Given the description of an element on the screen output the (x, y) to click on. 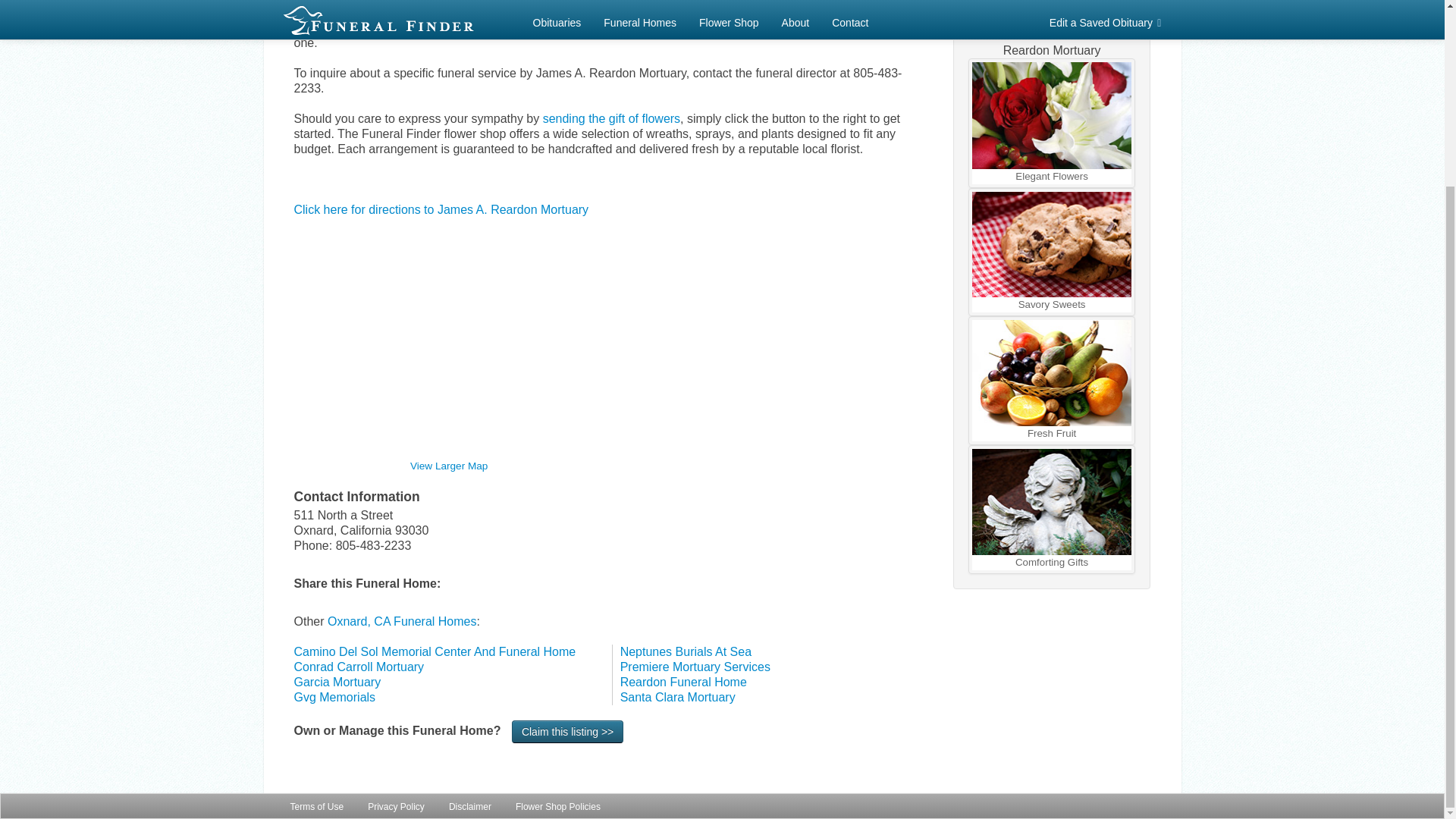
View Larger Map (448, 465)
Premiere Mortuary Services (695, 666)
Santa Clara Mortuary (677, 697)
Garcia Mortuary (337, 681)
Gvg Memorials (334, 697)
Disclaimer (470, 575)
Neptunes Burials At Sea (685, 651)
Terms of Use (317, 575)
sending the gift of flowers (611, 118)
Privacy Policy (395, 575)
Click here for directions to James A. Reardon Mortuary (441, 209)
Oxnard, CA Funeral Homes (402, 621)
Conrad Carroll Mortuary (359, 666)
Reardon Funeral Home (683, 681)
Savory Sweets (1052, 251)
